Given the description of an element on the screen output the (x, y) to click on. 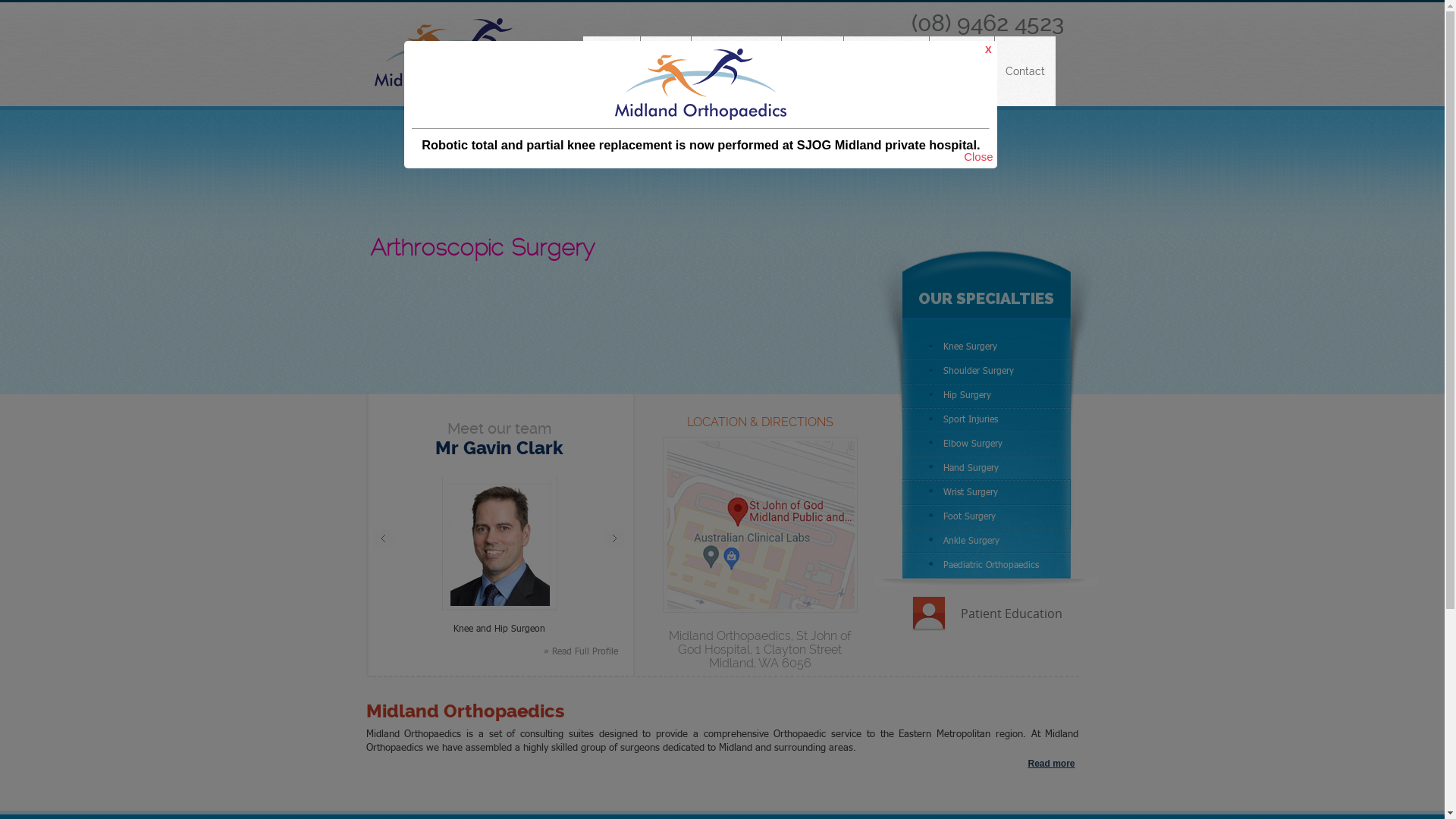
Our Surgeons Element type: text (736, 71)
Services Element type: text (811, 71)
Contact Element type: text (1024, 71)
Ankle Surgery Element type: text (986, 540)
(08) 9462 4523 Element type: text (987, 22)
For Referrers Element type: text (885, 71)
Patient Education Element type: text (1010, 613)
Read more Element type: text (1050, 763)
Home Element type: text (610, 71)
Foot Surgery Element type: text (986, 516)
Hand Surgery Element type: text (986, 467)
LOCATION & DIRECTIONS Element type: text (760, 421)
Mr Gavin Clark Element type: text (499, 447)
First Visit Element type: text (961, 71)
About Element type: text (665, 71)
Sport Injuries Element type: text (986, 419)
Hip Surgery Element type: text (986, 394)
Knee Surgery Element type: text (986, 346)
Paediatric Orthopaedics Element type: text (986, 564)
Shoulder Surgery Element type: text (986, 370)
Meet our team Element type: text (499, 428)
Elbow Surgery Element type: text (986, 443)
Wrist Surgery Element type: text (986, 492)
